Given the description of an element on the screen output the (x, y) to click on. 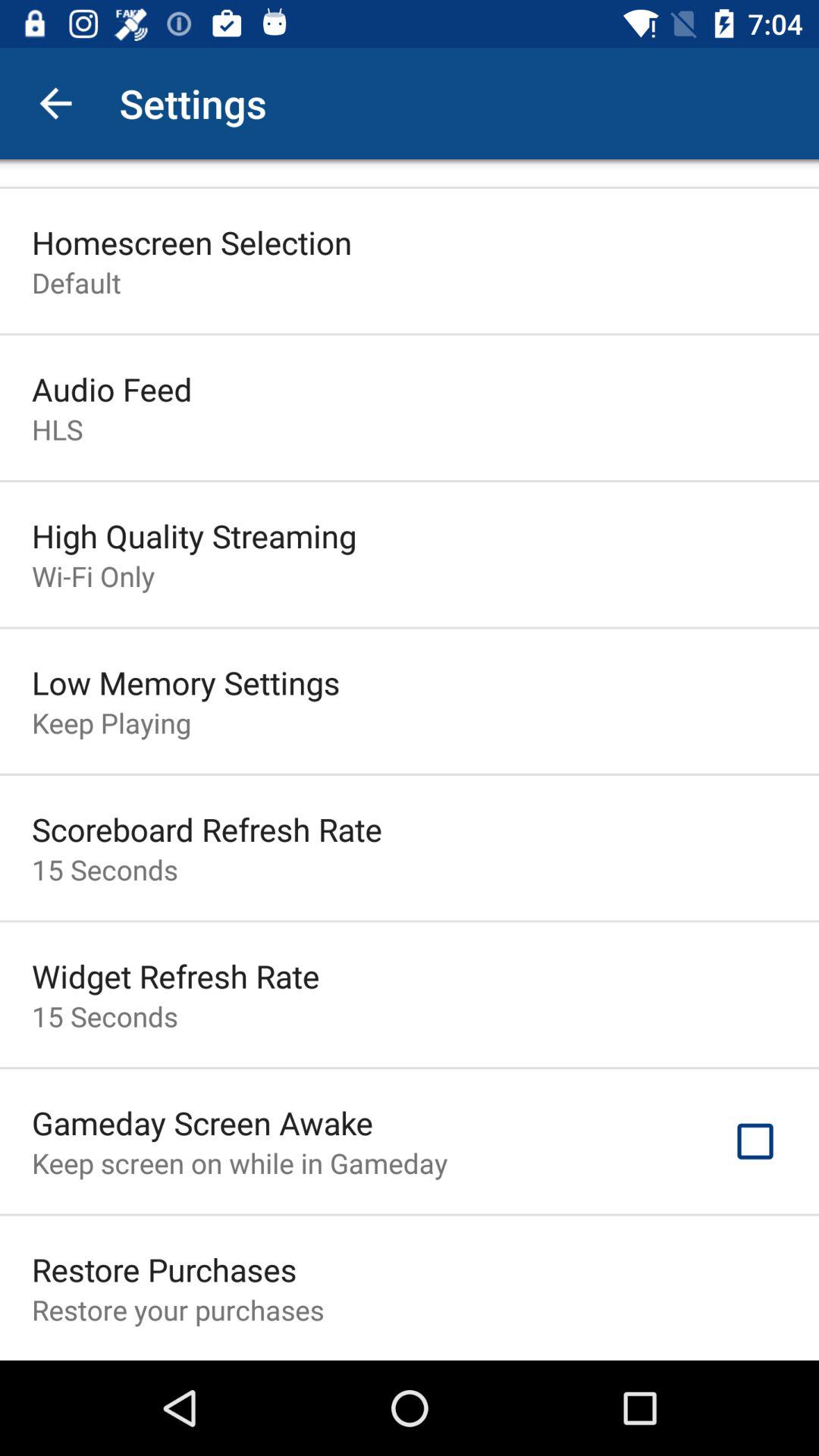
turn on keep screen on item (239, 1162)
